Given the description of an element on the screen output the (x, y) to click on. 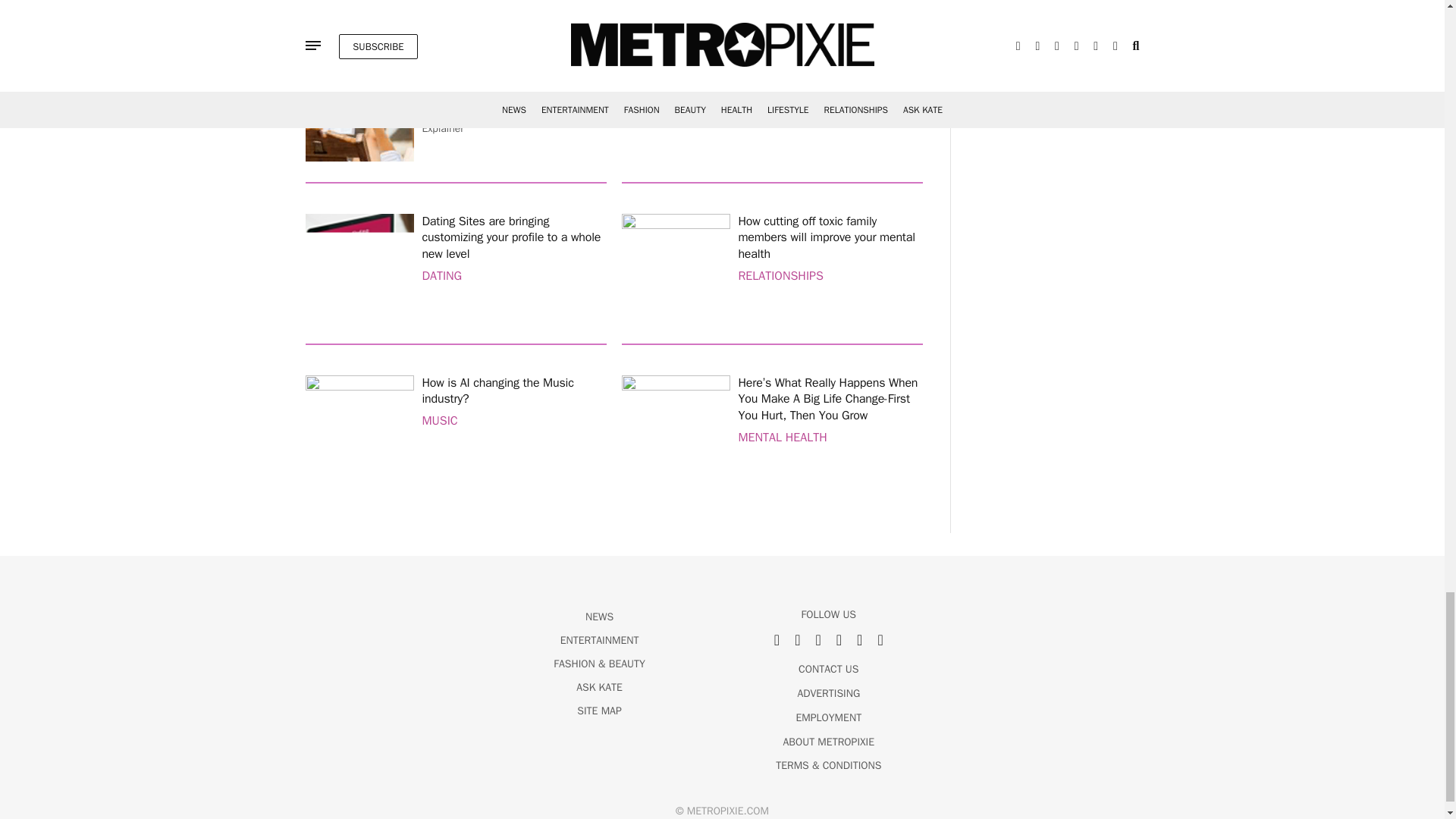
goals2 (675, 429)
AIMusic (358, 429)
indep2 (358, 106)
toxicfamily (675, 267)
youtube (675, 106)
Young woman on dating site (358, 267)
